Given the description of an element on the screen output the (x, y) to click on. 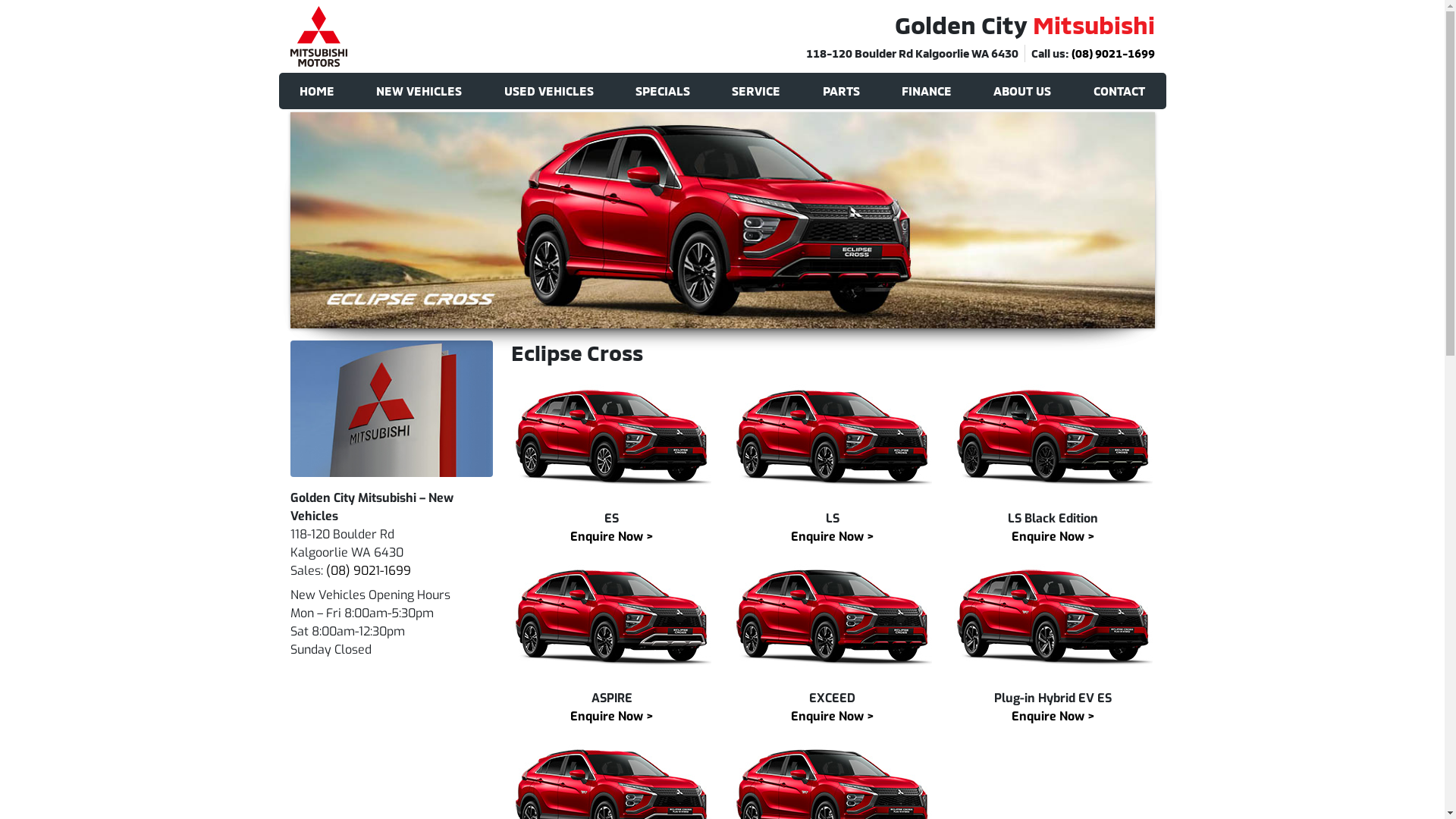
(08) 9021-1699 Element type: text (368, 570)
USED VEHICLES Element type: text (548, 90)
Enquire Now > Element type: text (832, 536)
ABOUT US Element type: text (1022, 90)
NEW VEHICLES Element type: text (419, 90)
SERVICE Element type: text (756, 90)
(08) 9021-1699 Element type: text (1112, 52)
Enquire Now > Element type: text (611, 716)
HOME Element type: text (317, 90)
SPECIALS Element type: text (662, 90)
Enquire Now > Element type: text (611, 536)
FINANCE Element type: text (926, 90)
PARTS Element type: text (840, 90)
Enquire Now > Element type: text (1053, 536)
Enquire Now > Element type: text (832, 716)
CONTACT Element type: text (1118, 90)
Enquire Now > Element type: text (1053, 716)
